Given the description of an element on the screen output the (x, y) to click on. 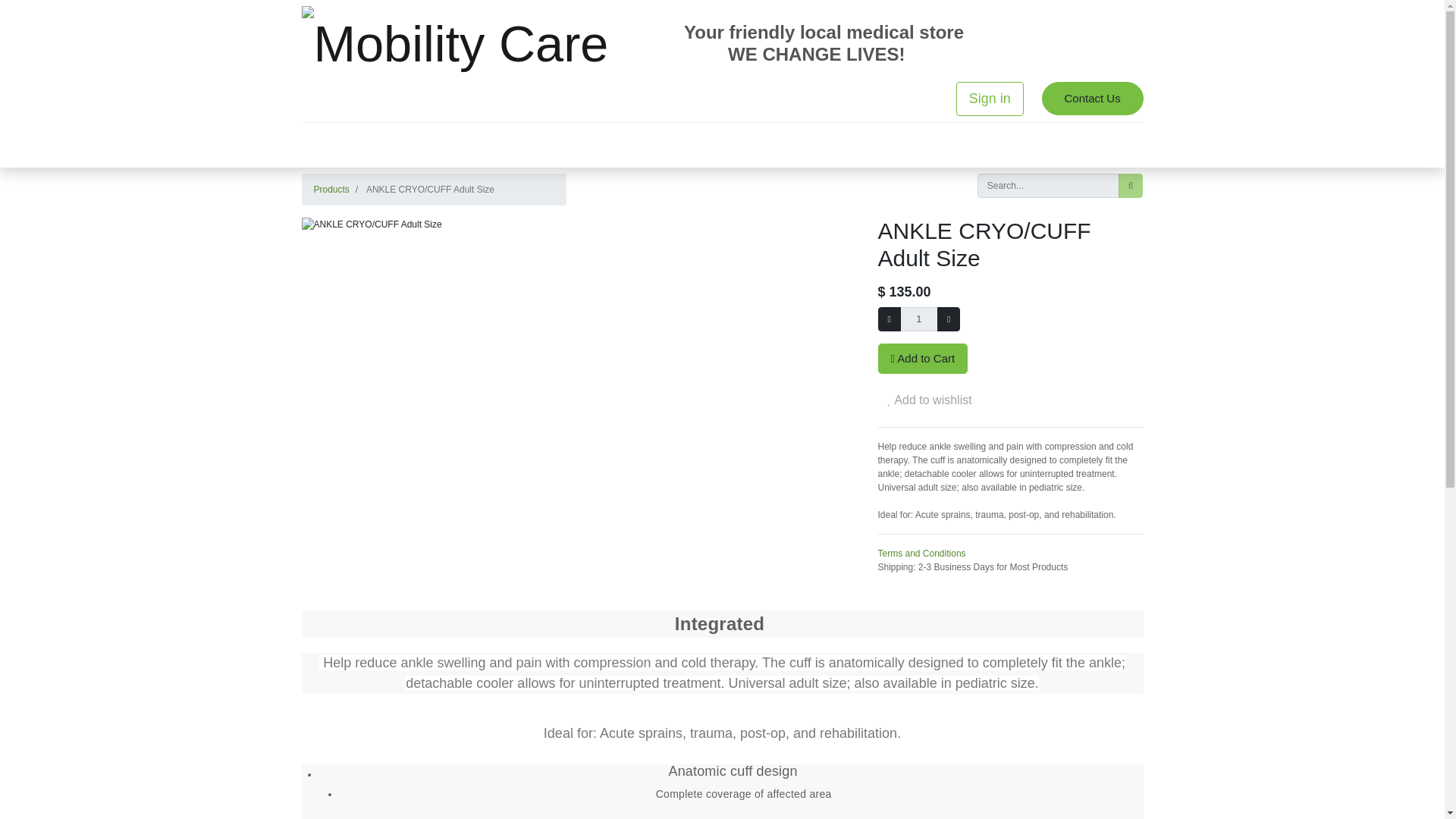
Add one (948, 319)
Remove one (889, 319)
Sign in (989, 98)
Terms and Conditions (921, 552)
1 (918, 319)
Add to wishlist (929, 399)
Products (331, 189)
Mobility Care (454, 43)
Add to Cart (922, 358)
Search (1130, 185)
